Given the description of an element on the screen output the (x, y) to click on. 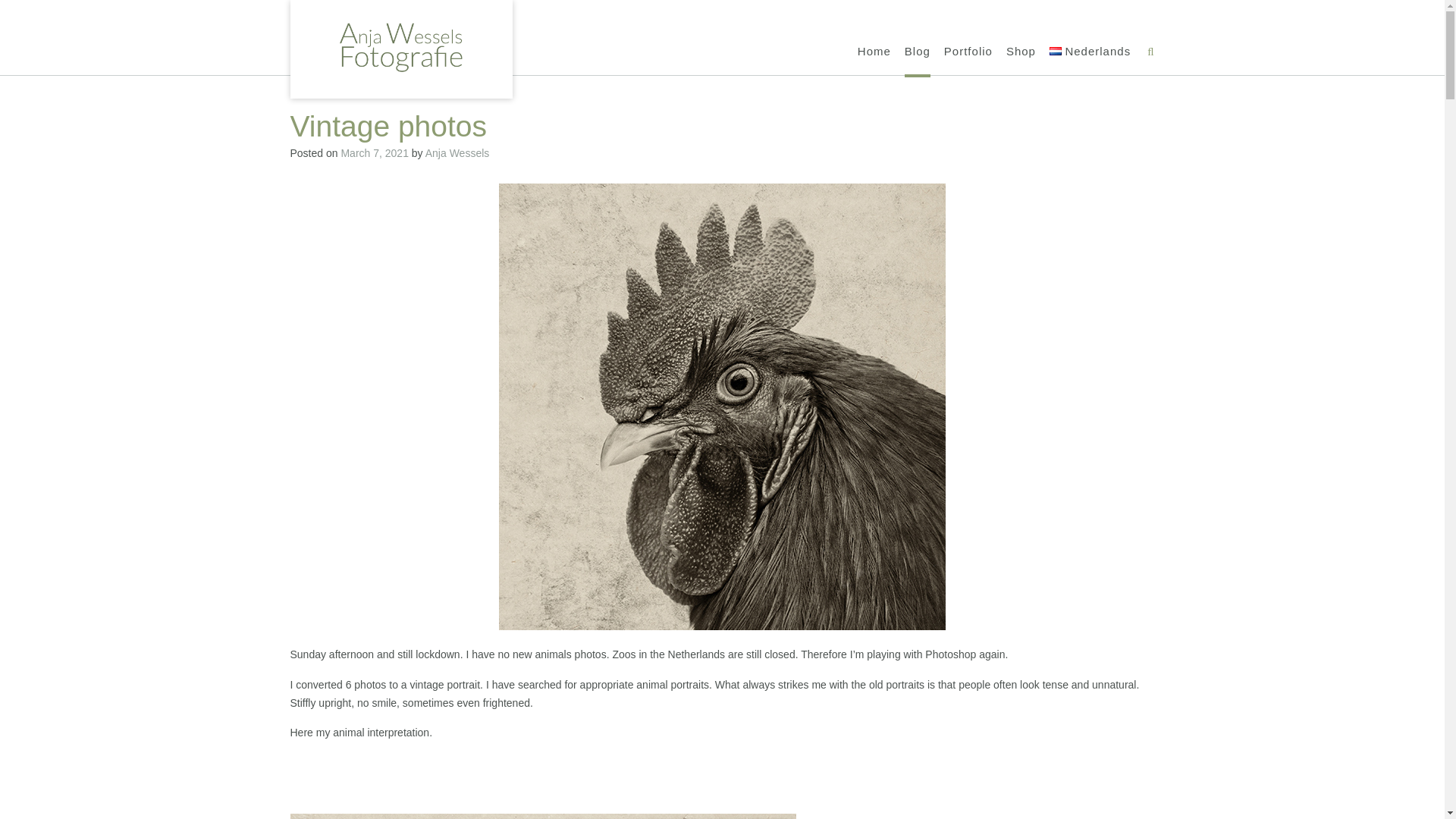
Blog (917, 51)
Home (874, 51)
March 7, 2021 (374, 152)
Portfolio (967, 51)
Shop (1020, 51)
Anja Wessels (457, 152)
Nederlands (1090, 51)
